Given the description of an element on the screen output the (x, y) to click on. 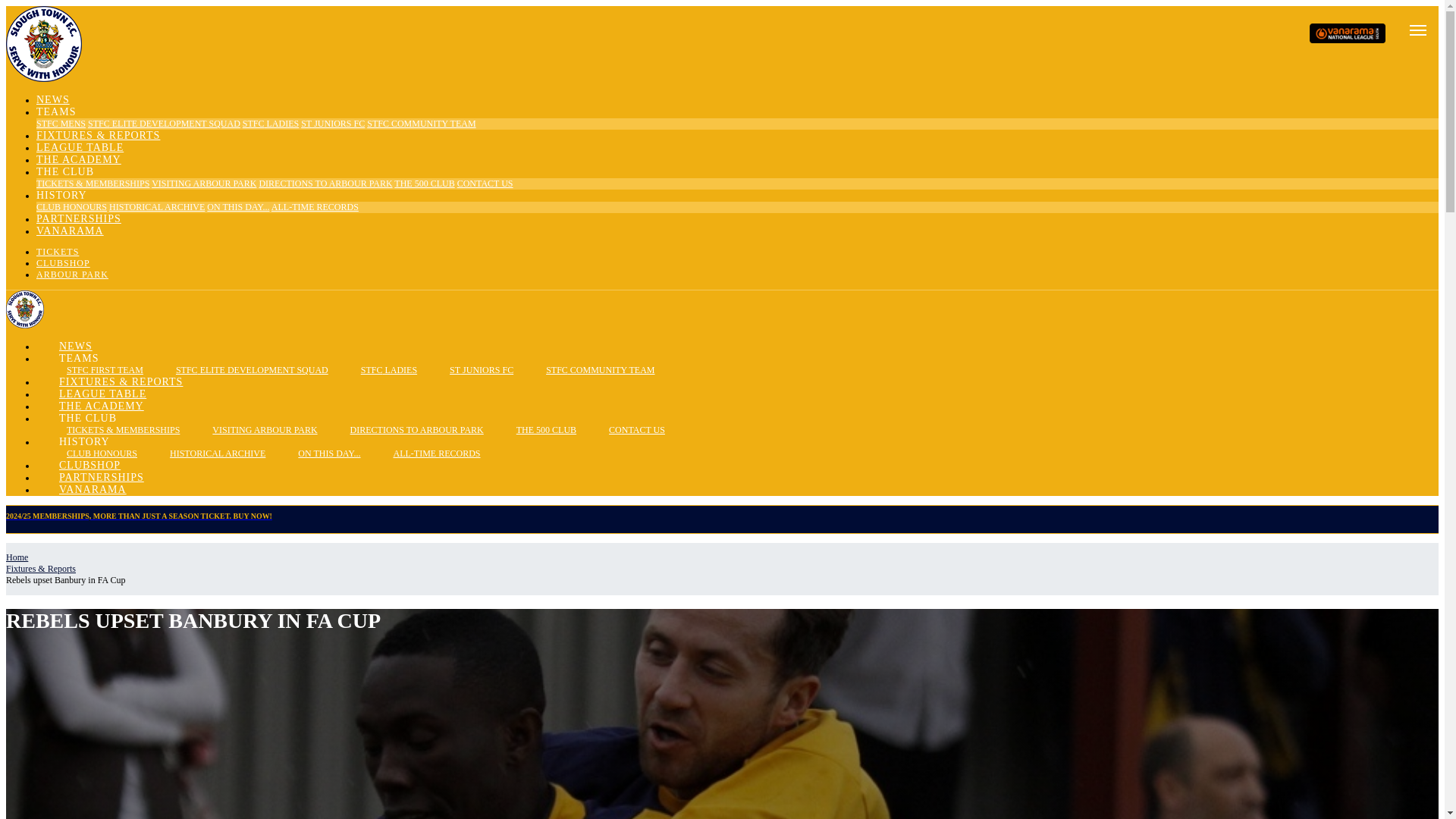
NEWS (52, 99)
THE ACADEMY (78, 159)
HISTORICAL ARCHIVE (157, 206)
ALL-TIME RECORDS (314, 206)
PARTNERSHIPS (78, 218)
CLUB HONOURS (71, 206)
STFC LADIES (373, 369)
ARBOUR PARK (71, 274)
CONTACT US (485, 183)
STFC COMMUNITY TEAM (584, 369)
ON THIS DAY... (237, 206)
ST JUNIORS FC (466, 369)
THE CLUB (65, 171)
CLUBSHOP (63, 262)
LEAGUE TABLE (79, 147)
